Given the description of an element on the screen output the (x, y) to click on. 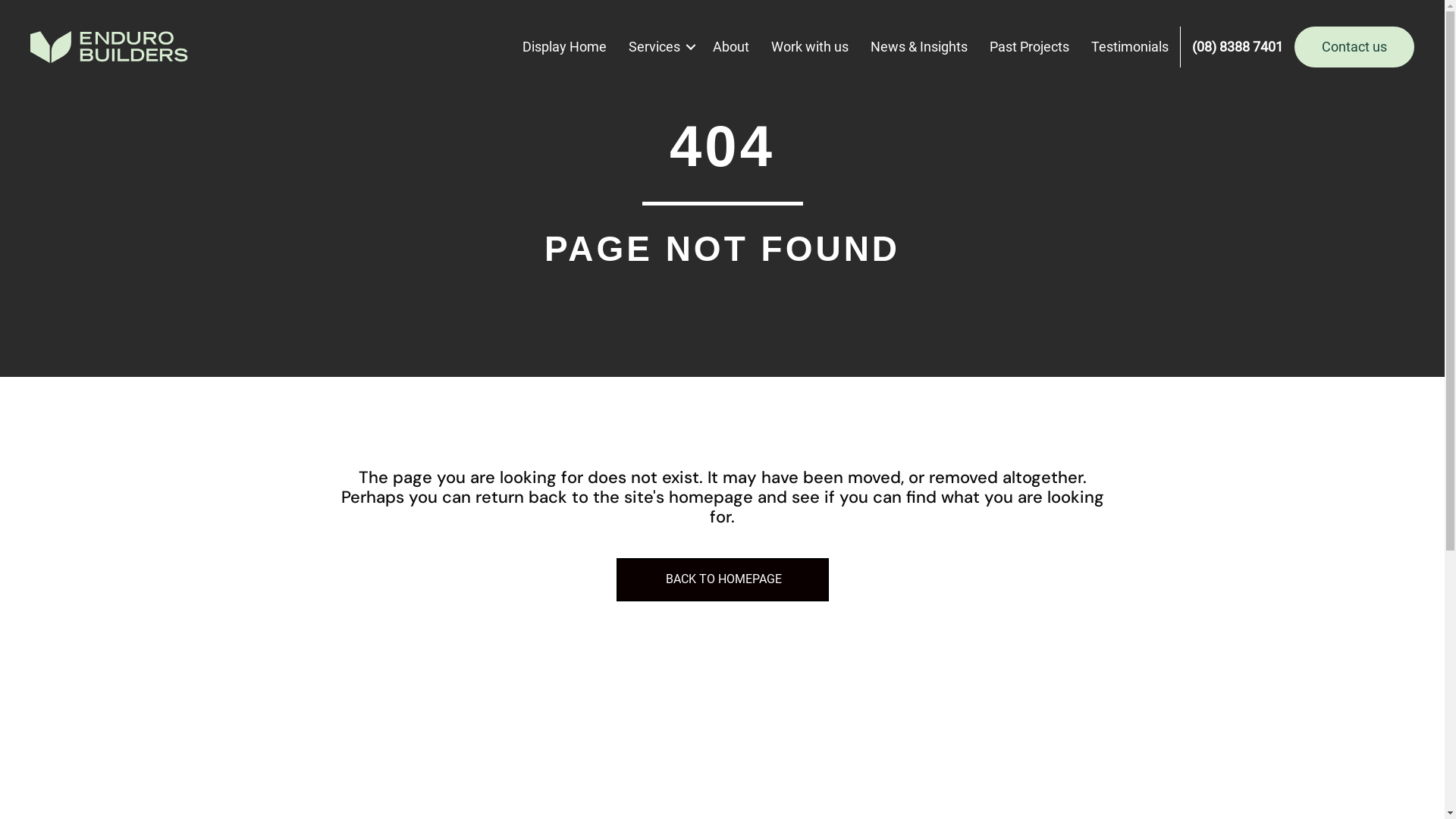
(08) 8388 7401 Element type: text (1237, 46)
Past Projects Element type: text (1029, 46)
Services Element type: text (659, 46)
Testimonials Element type: text (1129, 46)
  Element type: text (1179, 46)
Display Home Element type: text (564, 46)
About Element type: text (730, 46)
Work with us Element type: text (809, 46)
News & Insights Element type: text (918, 46)
Contact us Element type: text (1354, 46)
BACK TO HOMEPAGE Element type: text (721, 579)
logo Element type: hover (109, 46)
